Given the description of an element on the screen output the (x, y) to click on. 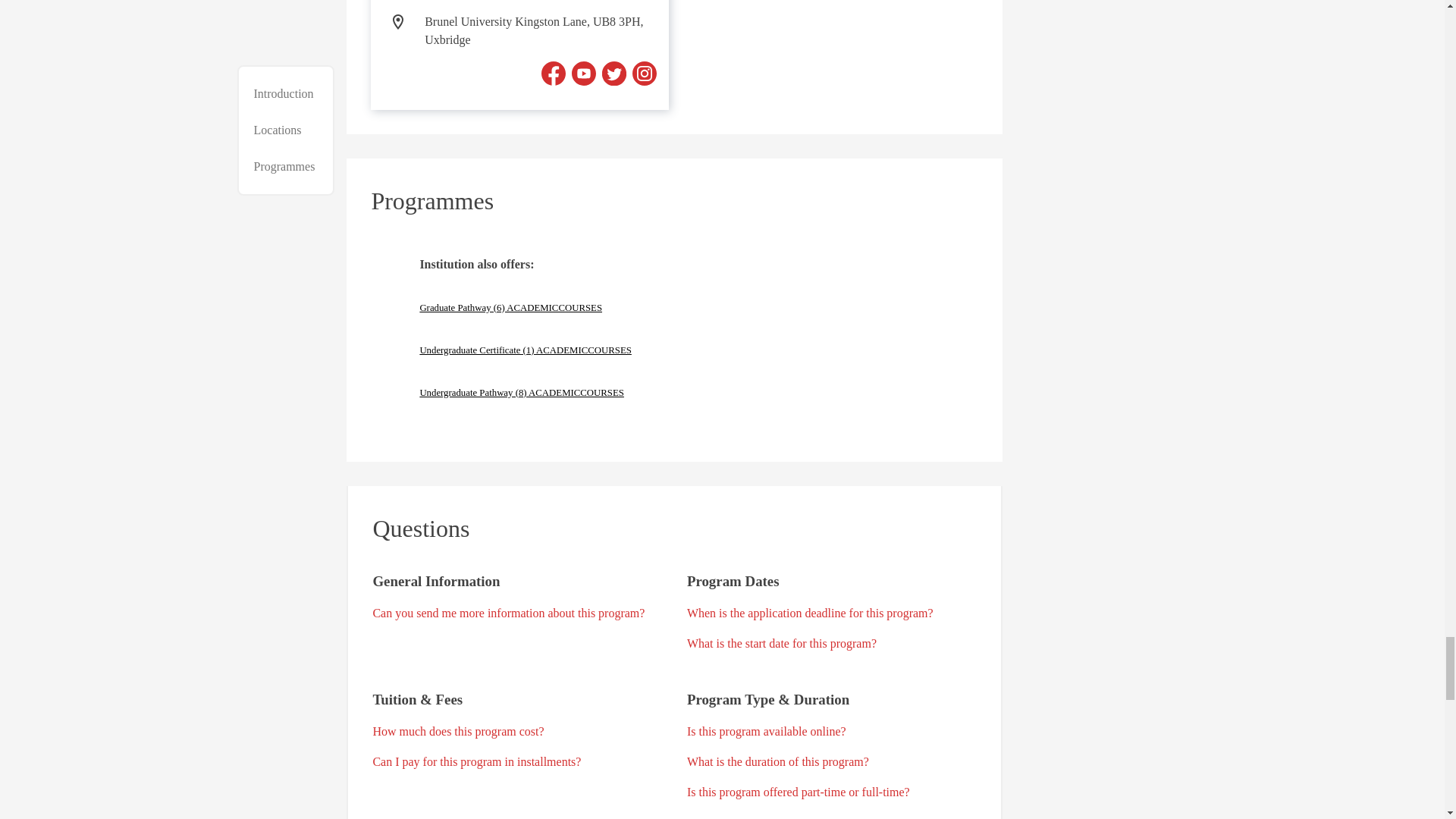
instagram (643, 73)
facebook (553, 73)
twitter (614, 73)
youtube (583, 73)
